Given the description of an element on the screen output the (x, y) to click on. 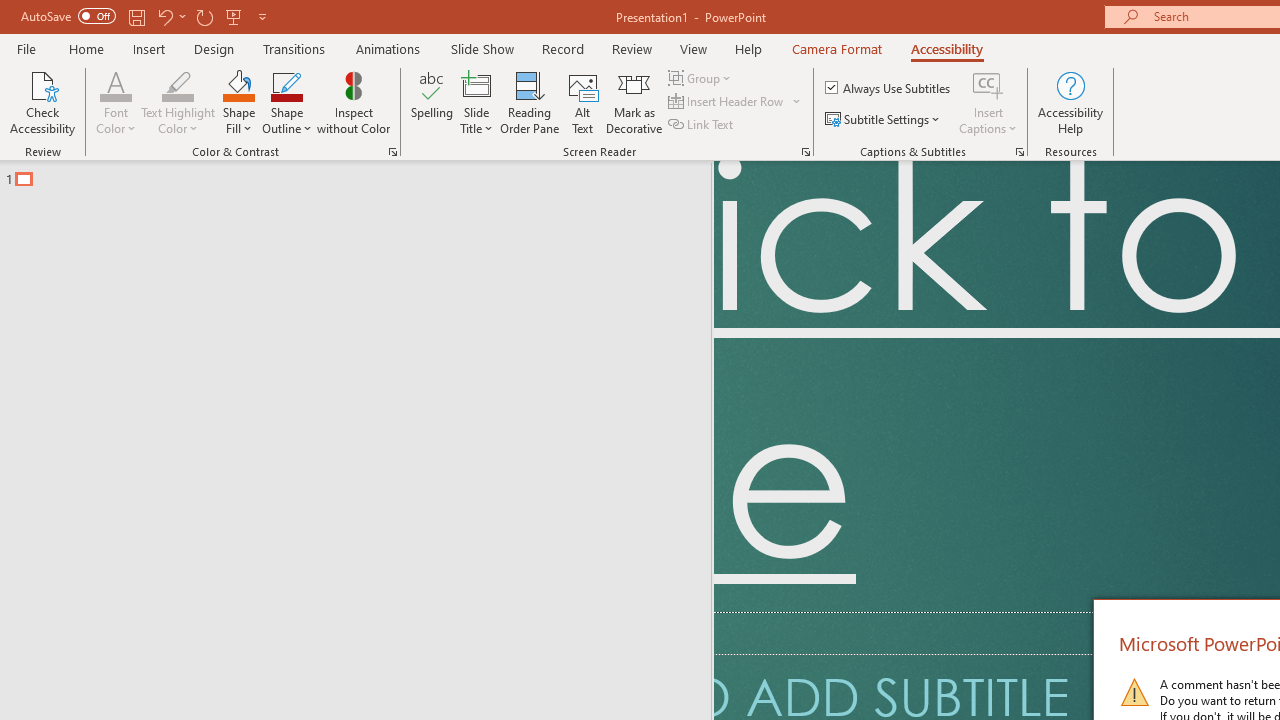
Group (701, 78)
Reading Order Pane (529, 102)
Always Use Subtitles (889, 87)
Slide Title (476, 102)
Slide Title (476, 84)
Insert Header Row (727, 101)
Accessibility Help (1070, 102)
